Given the description of an element on the screen output the (x, y) to click on. 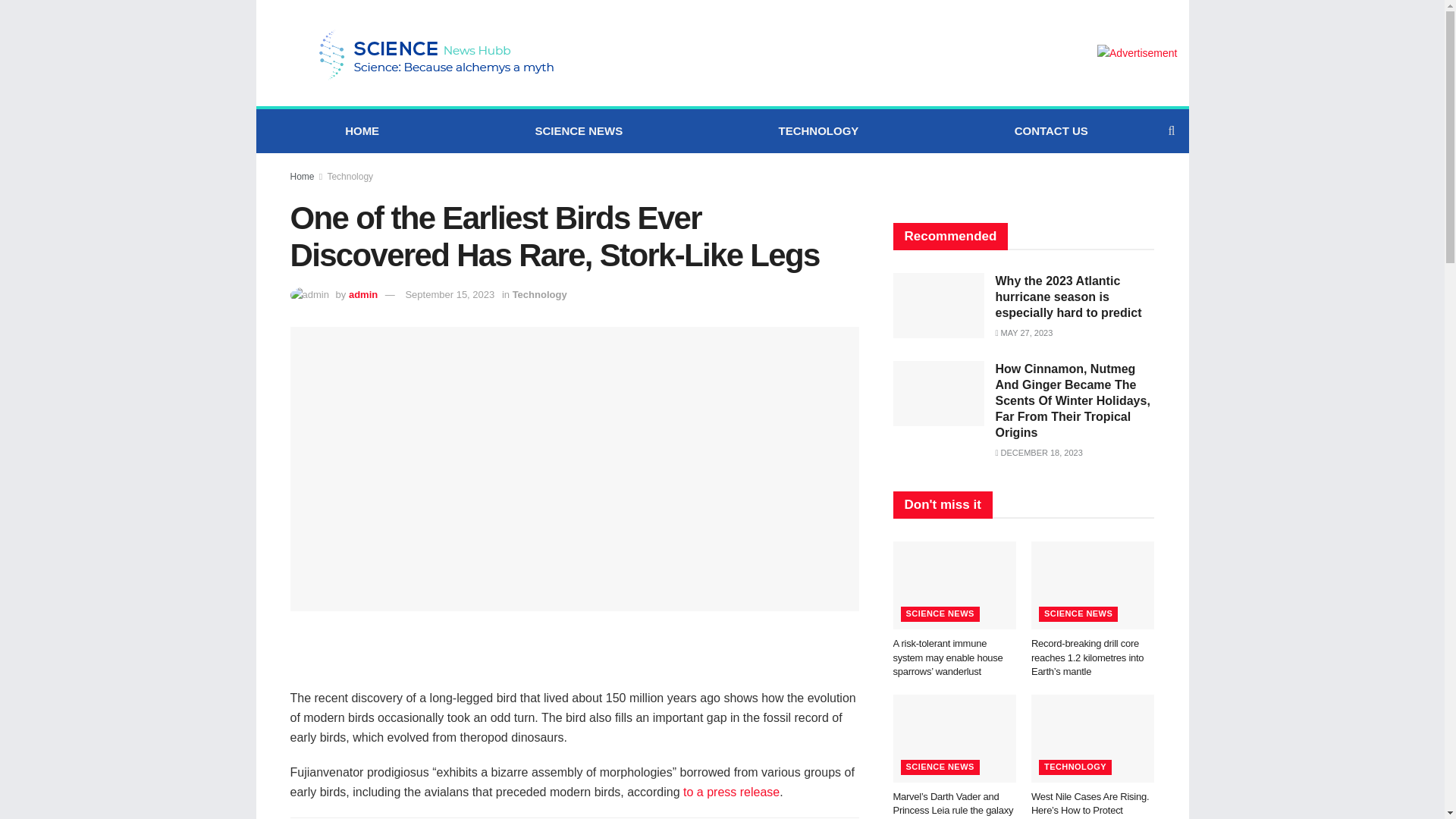
CONTACT US (1051, 130)
Technology (539, 294)
to a press release (730, 791)
HOME (361, 130)
Technology (349, 176)
Home (301, 176)
admin (363, 294)
SCIENCE NEWS (578, 130)
September 15, 2023 (449, 294)
TECHNOLOGY (818, 130)
